Given the description of an element on the screen output the (x, y) to click on. 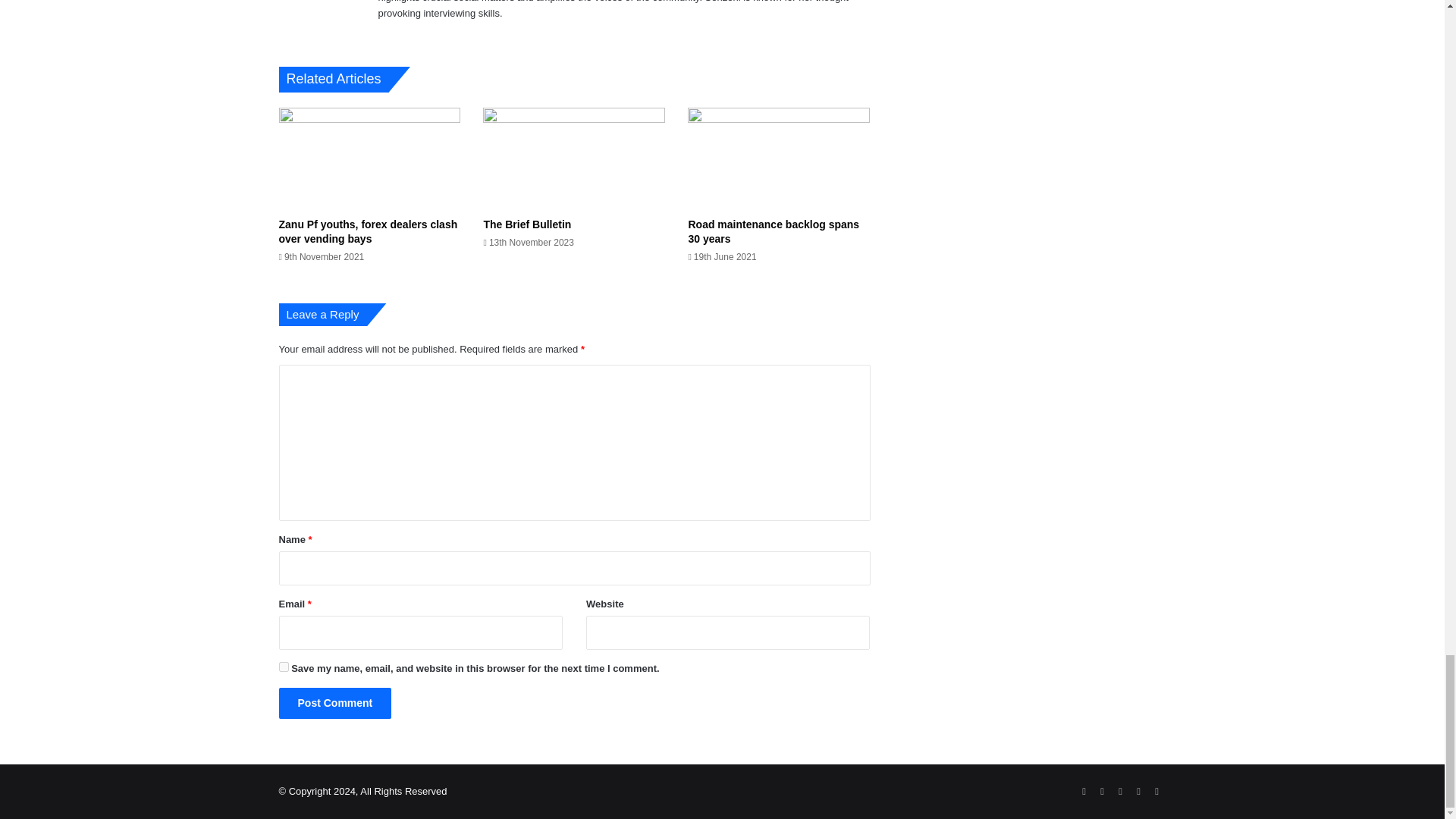
Zanu Pf youths, forex dealers clash over vending bays (368, 231)
Post Comment (335, 703)
Post Comment (335, 703)
Road maintenance backlog spans 30 years (773, 231)
The Brief Bulletin (526, 224)
yes (283, 666)
